Given the description of an element on the screen output the (x, y) to click on. 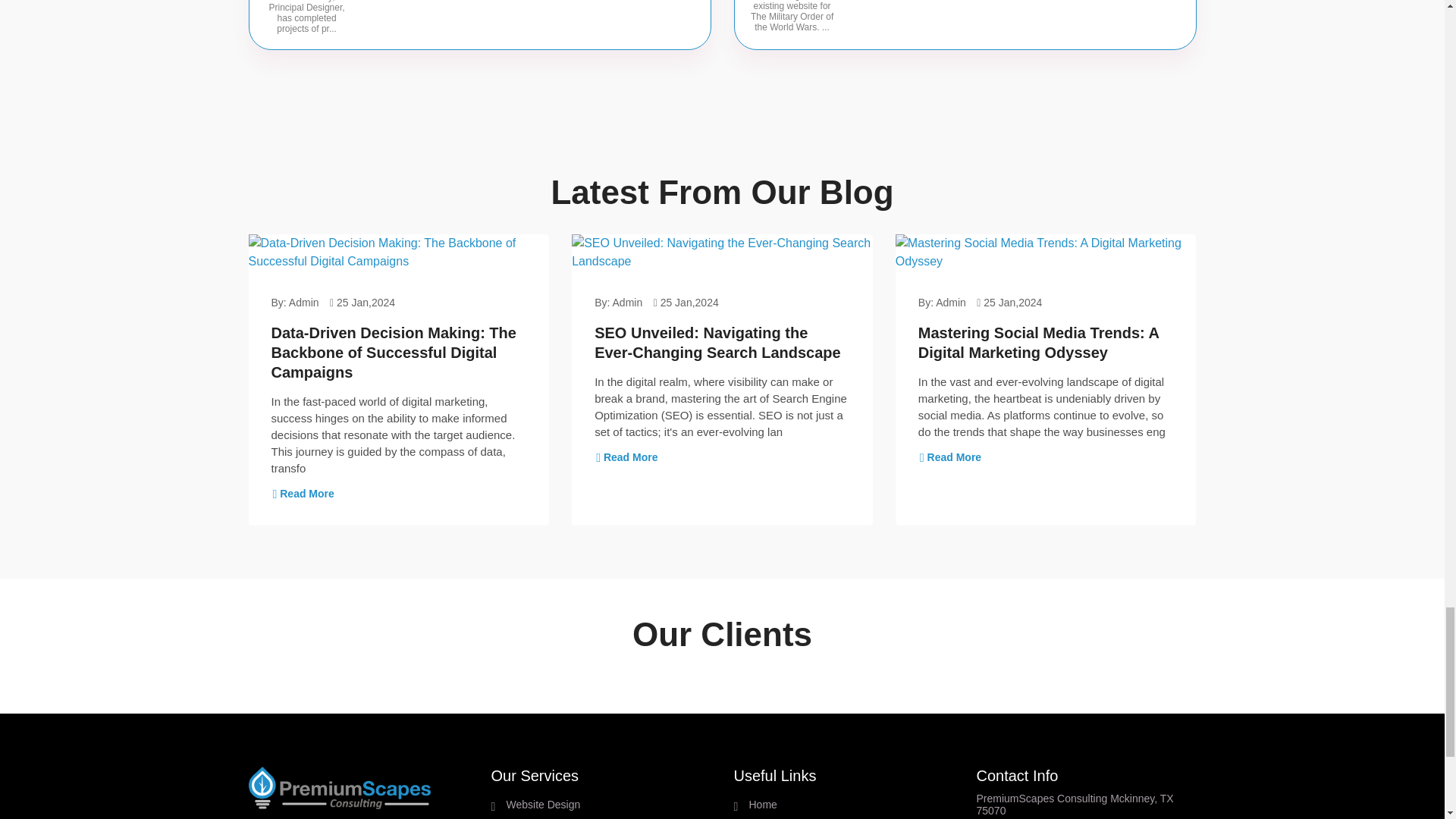
Read More (626, 457)
Read More (302, 493)
Mastering Social Media Trends: A Digital Marketing Odyssey (1038, 342)
Read More (949, 457)
Website Design (608, 804)
SEO Unveiled: Navigating the Ever-Changing Search Landscape (717, 342)
